Given the description of an element on the screen output the (x, y) to click on. 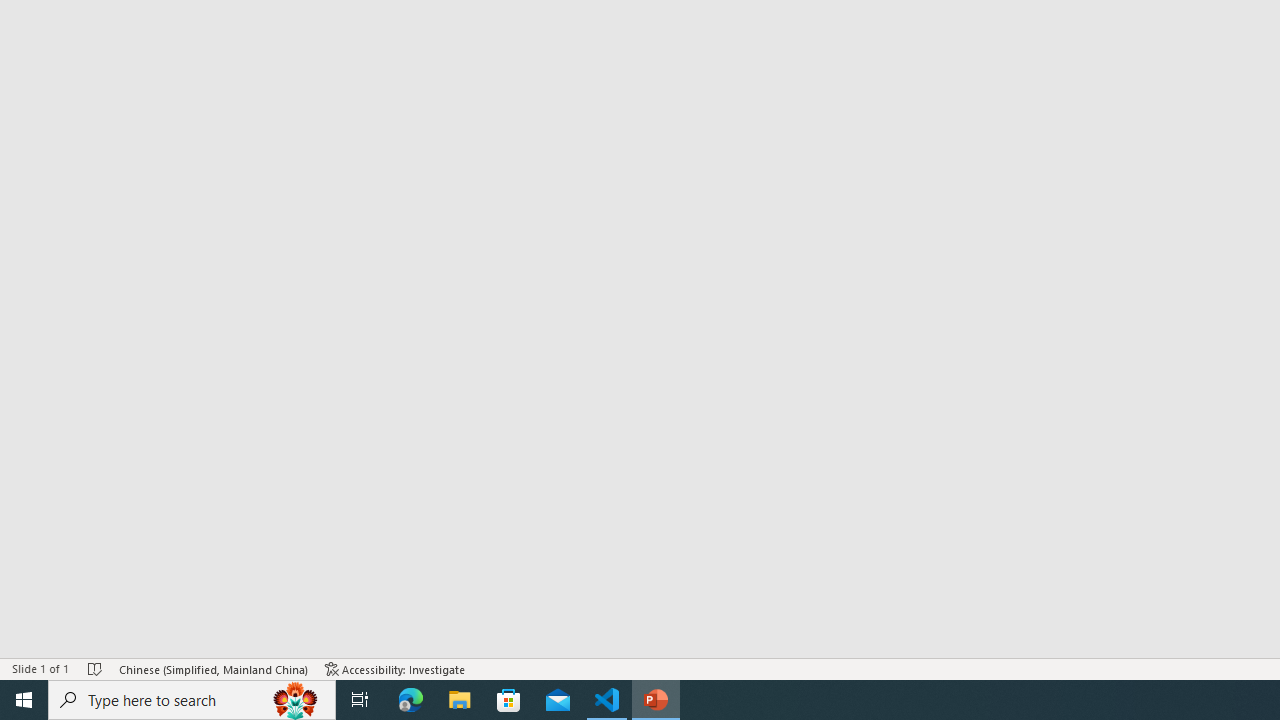
Spell Check No Errors (95, 668)
Accessibility Checker Accessibility: Investigate (395, 668)
